Given the description of an element on the screen output the (x, y) to click on. 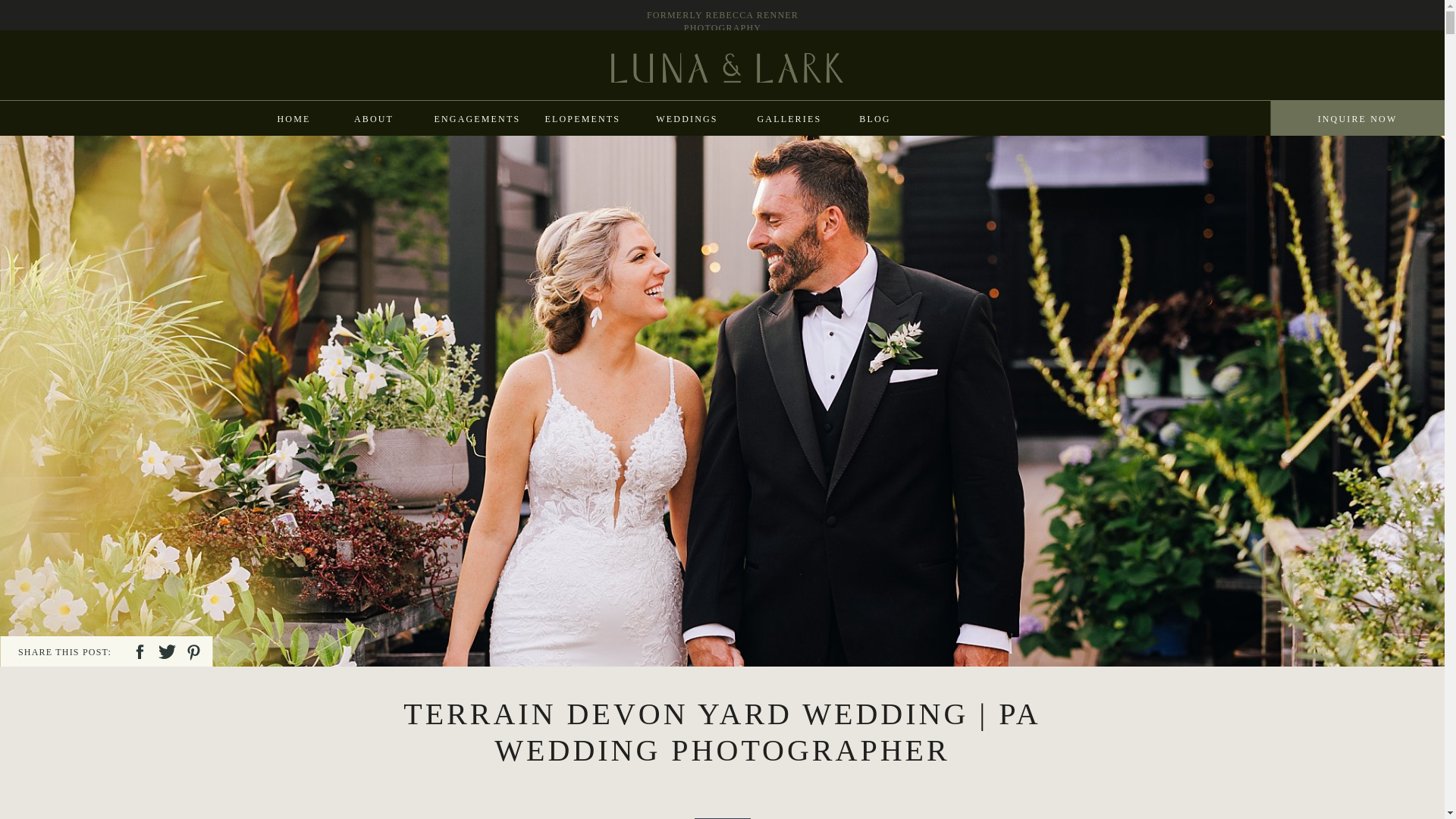
GALLERIES (788, 118)
ELOPEMENTS (580, 118)
INQUIRE NOW (1356, 118)
HOME (294, 118)
WEDDINGS (686, 118)
ABOUT (372, 118)
BLOG (874, 118)
ENGAGEMENTS (474, 118)
